Given the description of an element on the screen output the (x, y) to click on. 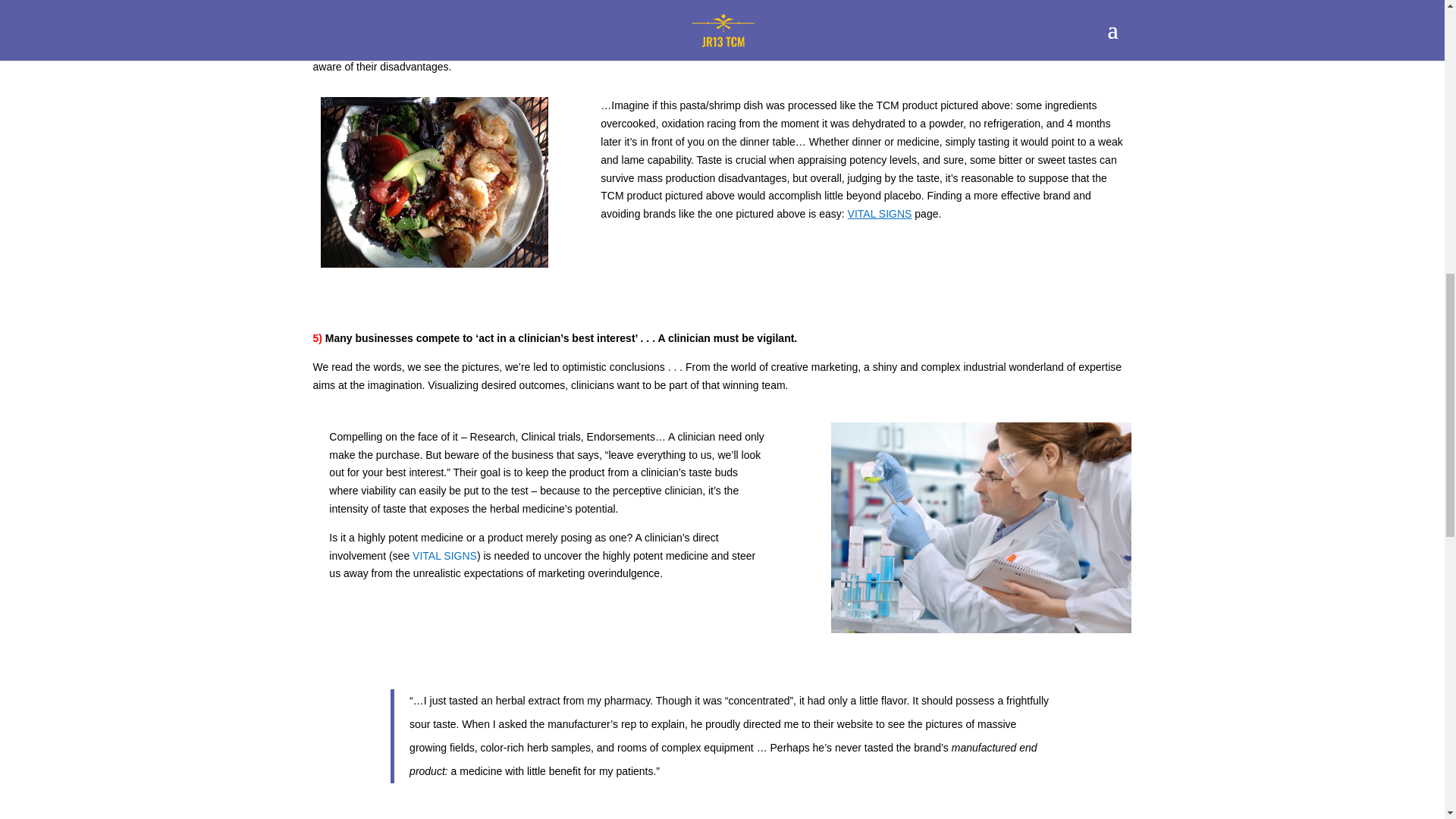
VITAL SIGNS (444, 555)
VITAL SIGNS (879, 214)
VITAL SIGNS (444, 555)
VITAL SIGNS (879, 214)
